Given the description of an element on the screen output the (x, y) to click on. 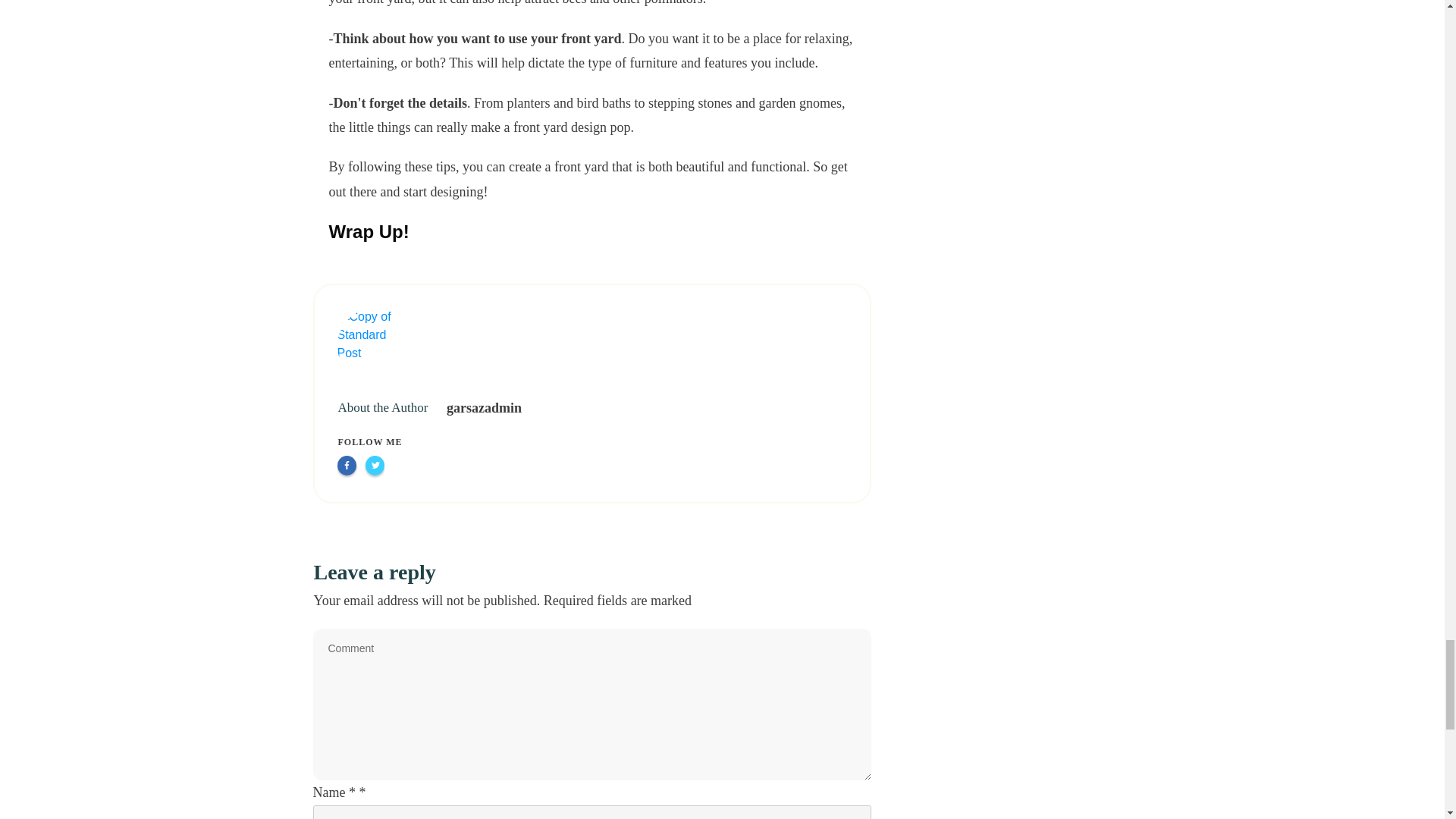
garsazadmin (483, 407)
Copy of Standard Post (374, 345)
